Given the description of an element on the screen output the (x, y) to click on. 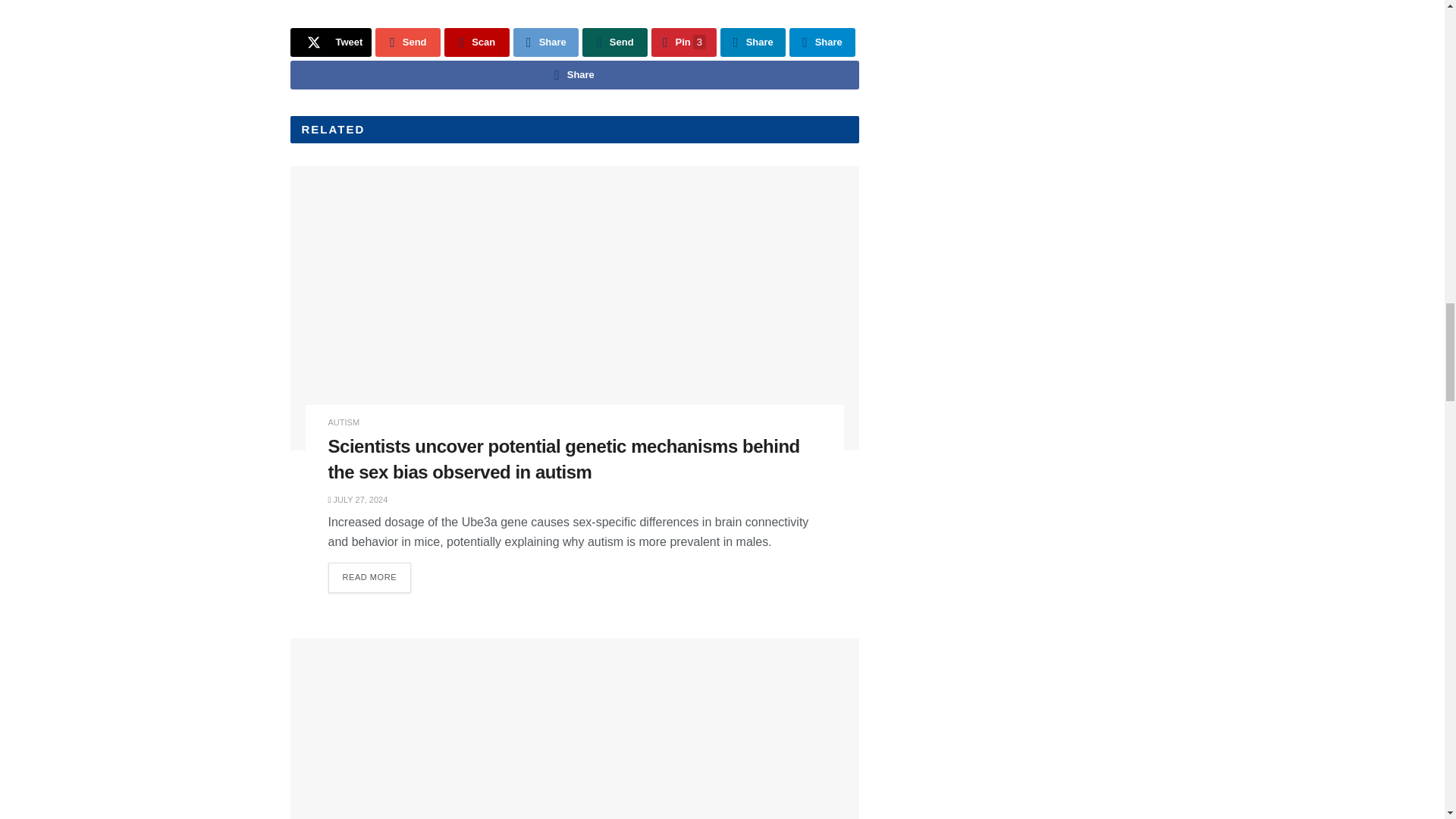
Share (545, 41)
Scan (476, 41)
Send (614, 41)
Send (408, 41)
Tweet (330, 41)
